Given the description of an element on the screen output the (x, y) to click on. 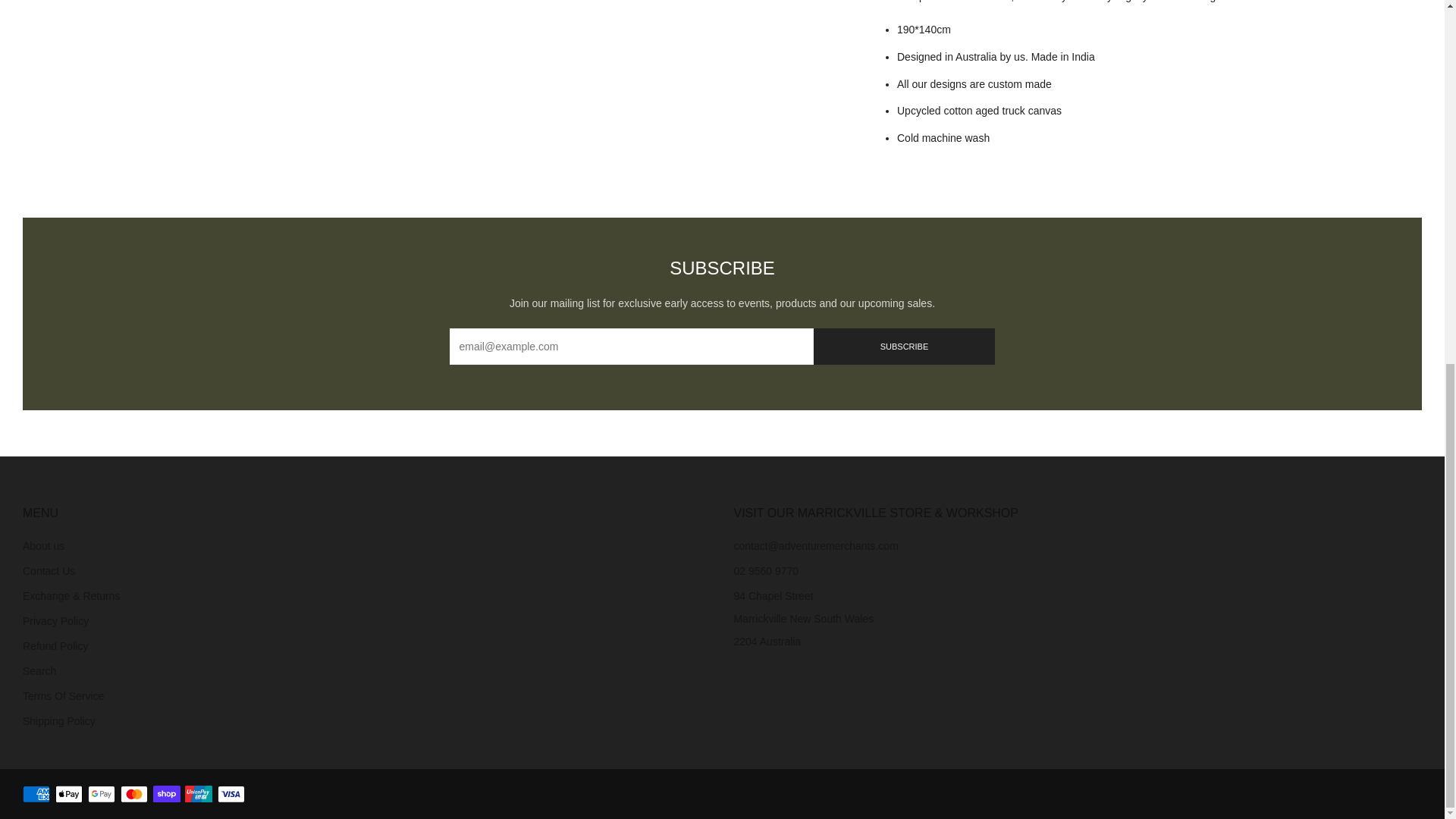
Visa (230, 794)
Google Pay (101, 794)
American Express (36, 794)
Union Pay (198, 794)
Shop Pay (166, 794)
Apple Pay (68, 794)
Mastercard (134, 794)
